Given the description of an element on the screen output the (x, y) to click on. 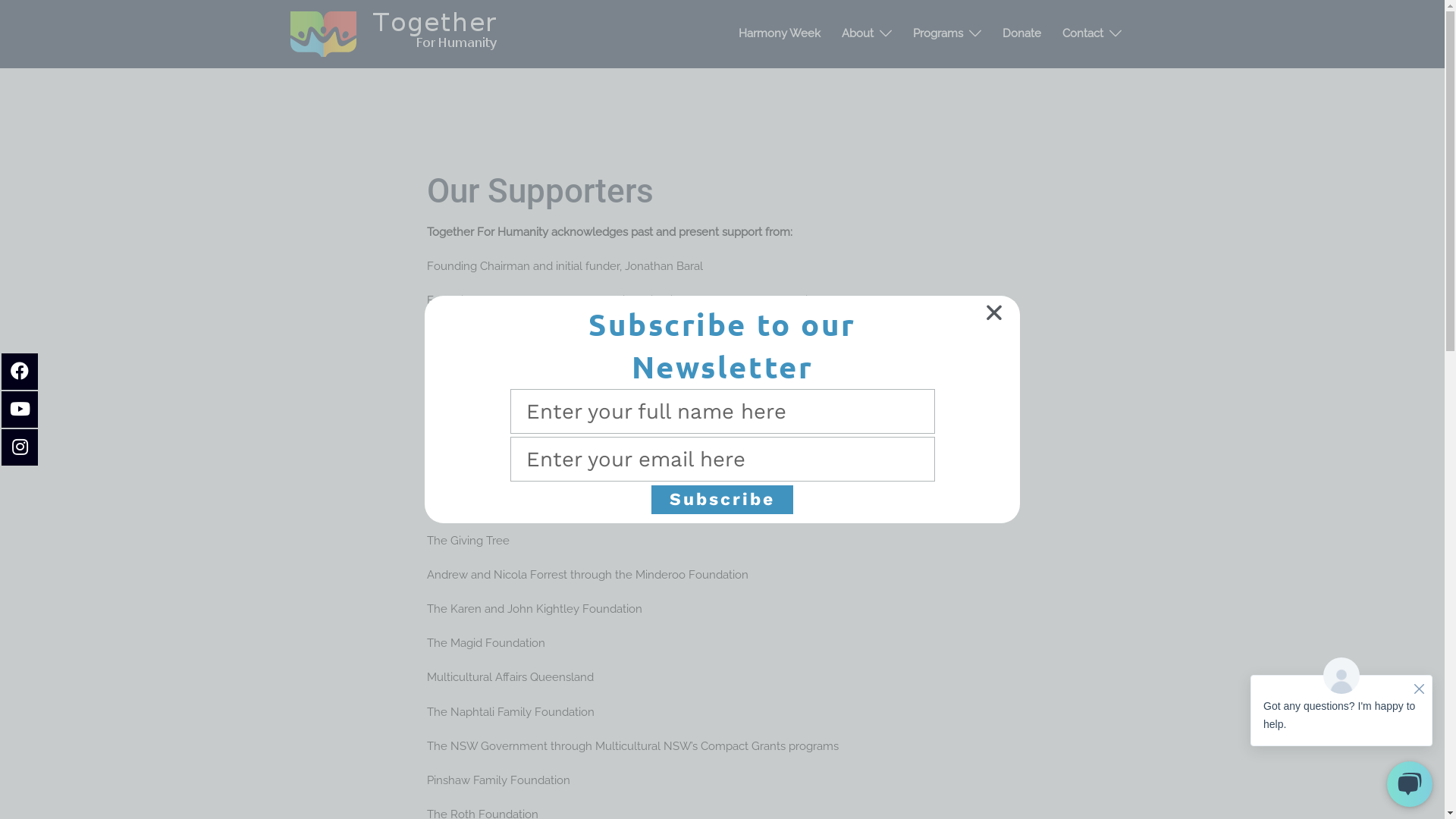
About Element type: text (857, 33)
Donate Element type: text (1021, 33)
Together for Humanity Element type: hover (395, 33)
Harmony Week Element type: text (779, 33)
Contact Element type: text (1081, 33)
Subscribe Element type: text (721, 498)
Programs Element type: text (938, 33)
